Given the description of an element on the screen output the (x, y) to click on. 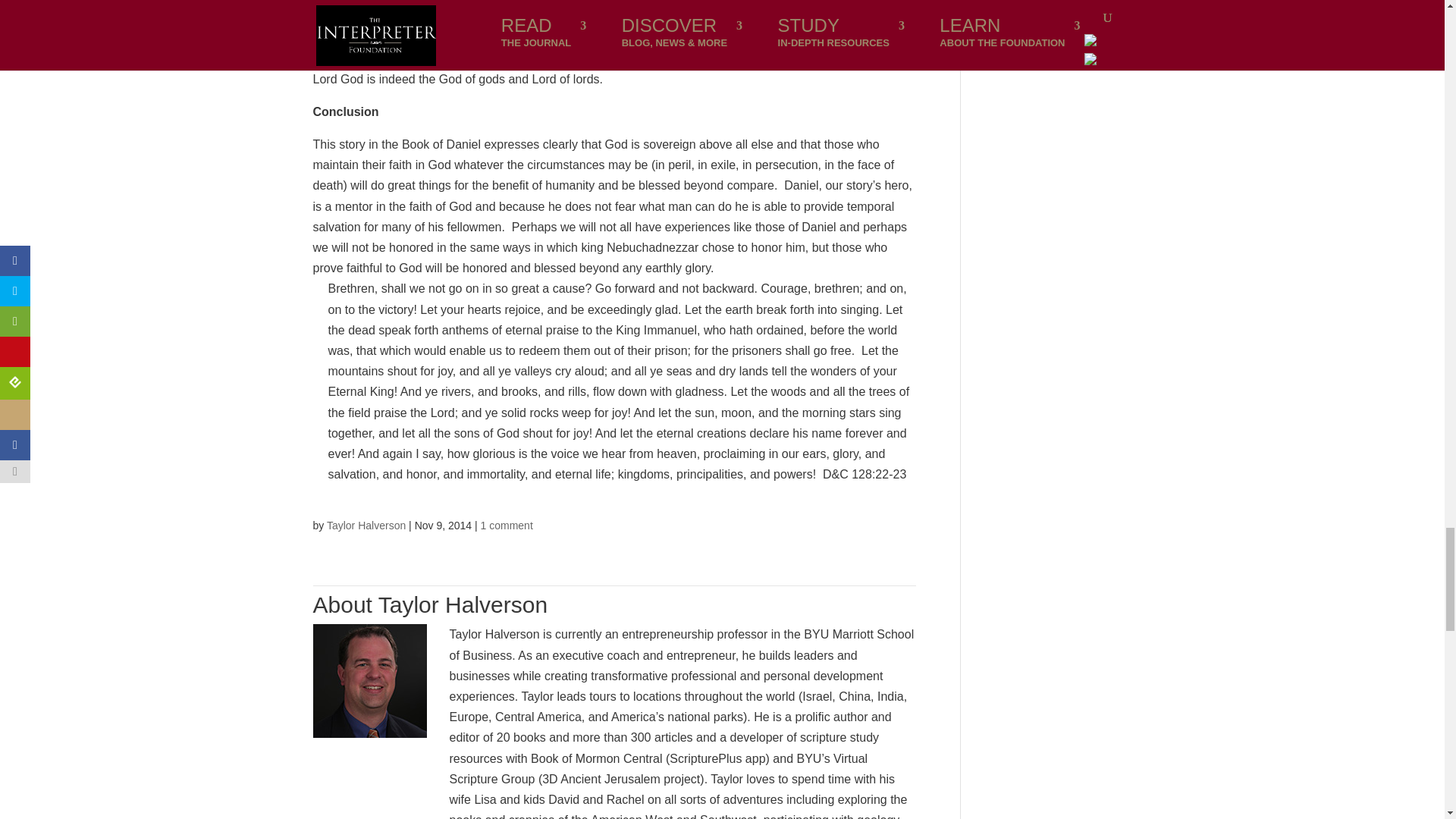
Taylor Halverson (366, 525)
